Given the description of an element on the screen output the (x, y) to click on. 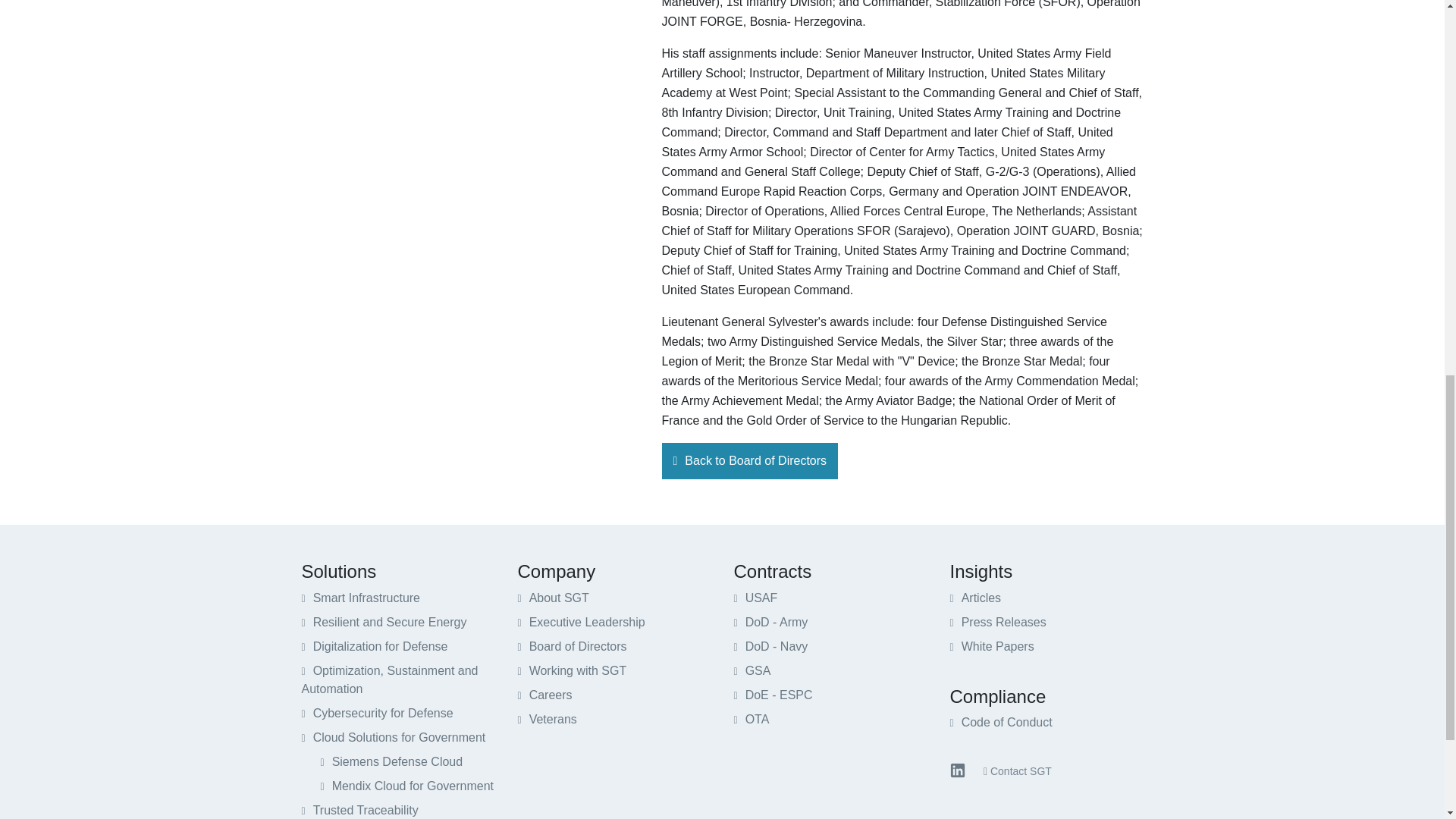
Back to Board of Directors (749, 461)
Smart Infrastructure (360, 597)
Resilient and Secure Energy (384, 621)
Optimization, Sustainment and Automation (390, 679)
Digitalization for Defense (374, 645)
